Given the description of an element on the screen output the (x, y) to click on. 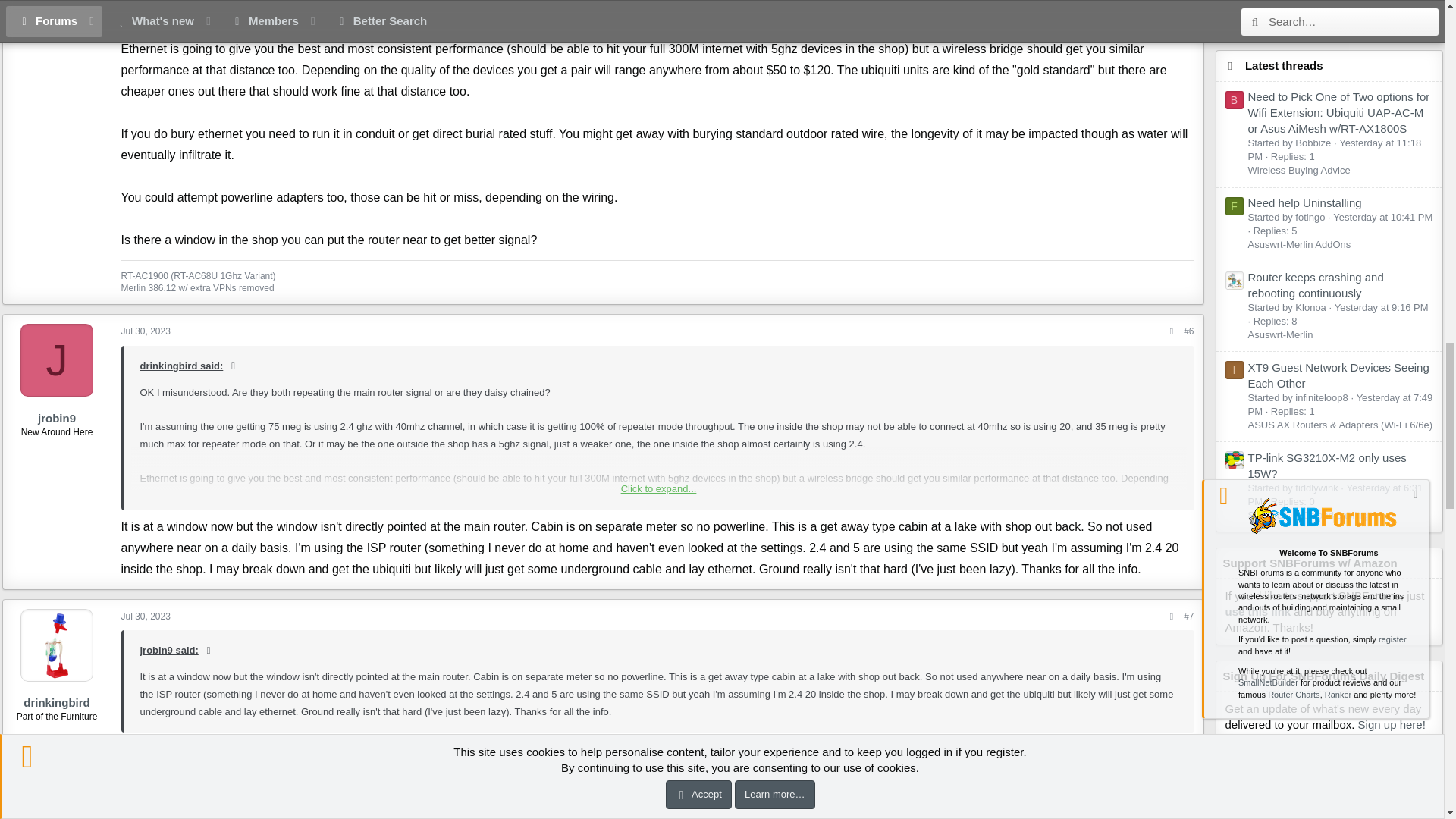
Jul 30, 2023 at 6:11 PM (145, 615)
Jul 30, 2023 at 5:19 PM (145, 330)
